Given the description of an element on the screen output the (x, y) to click on. 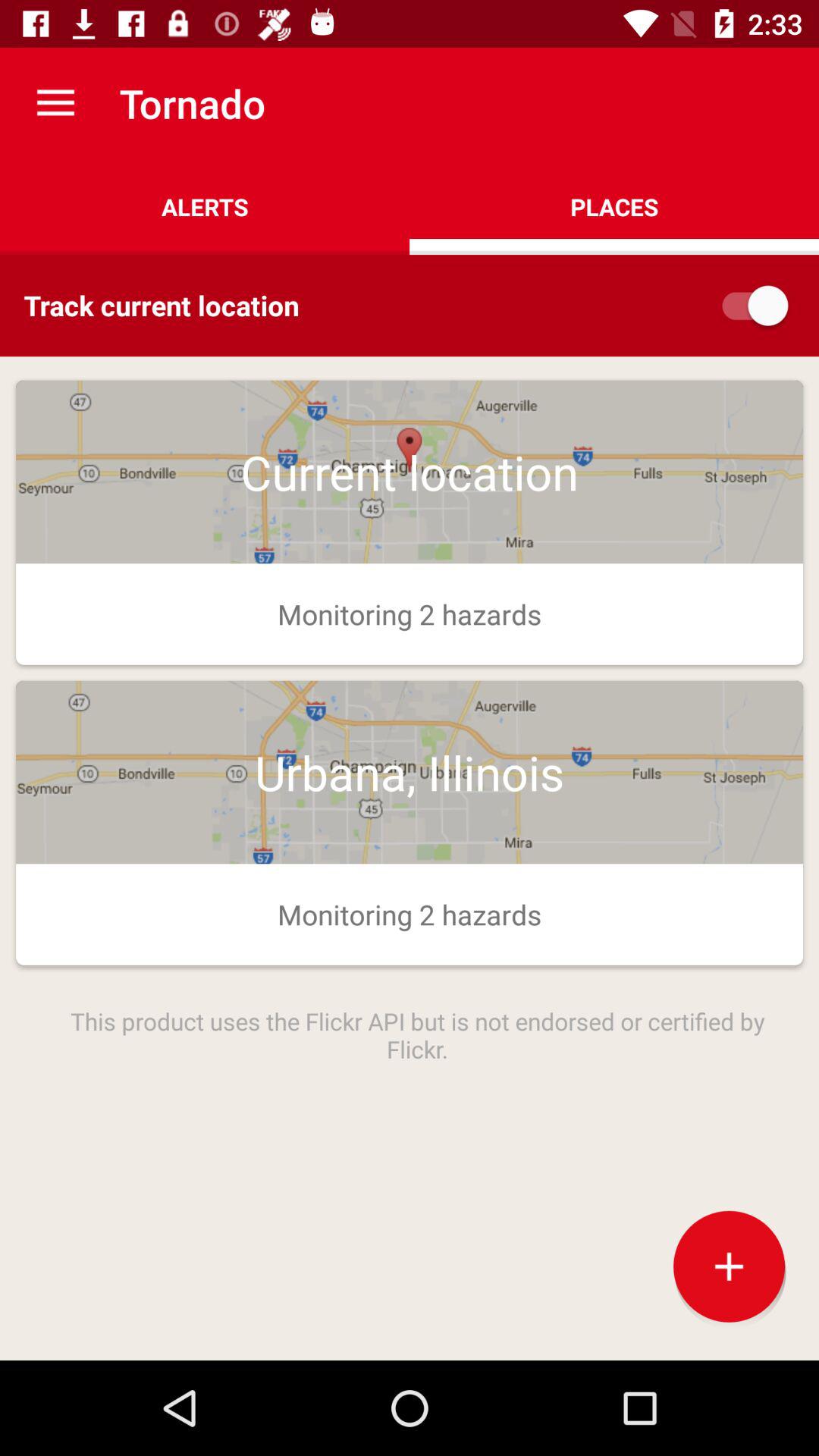
open icon to the right of alerts icon (614, 206)
